Given the description of an element on the screen output the (x, y) to click on. 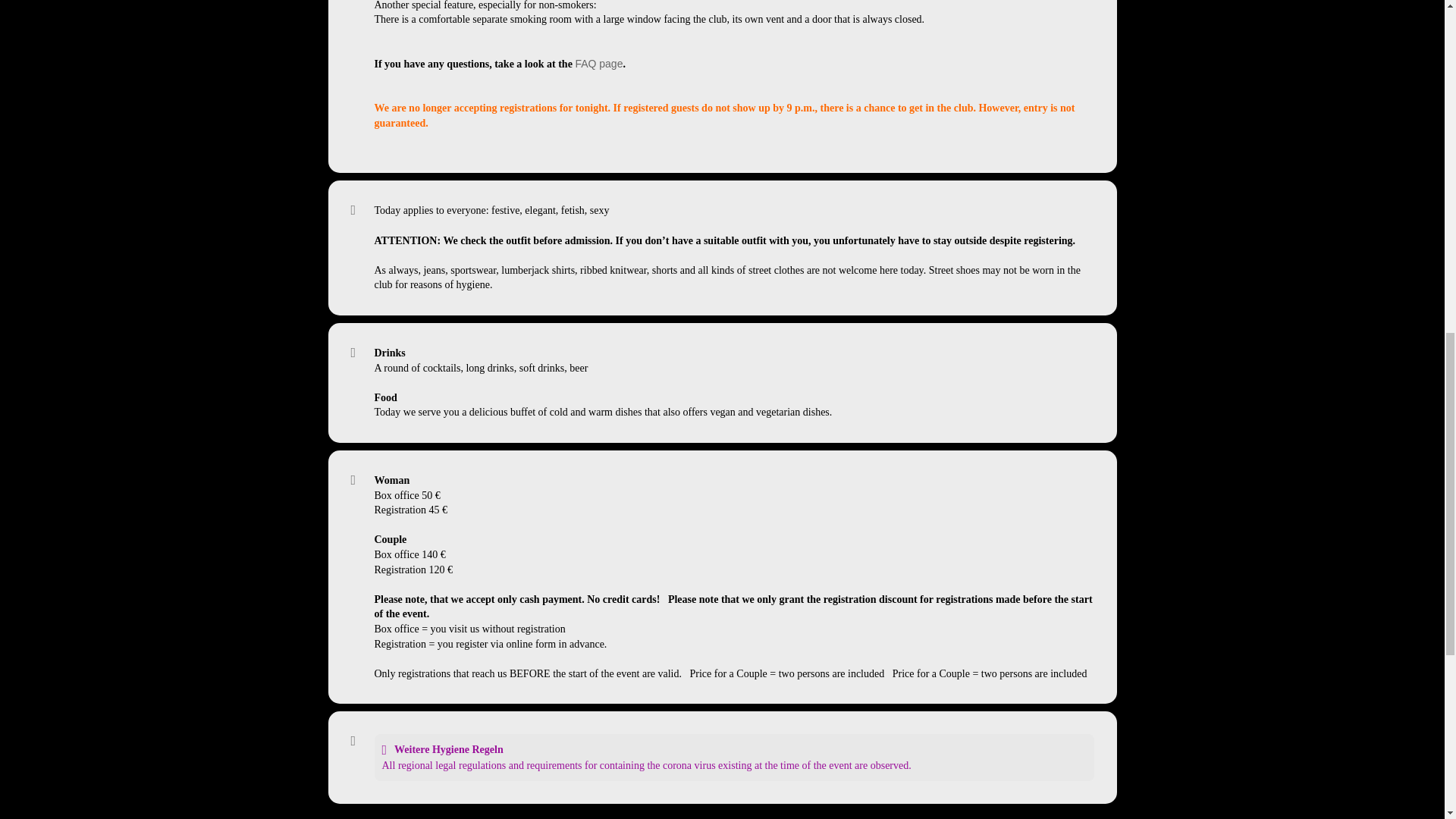
FAQ page (599, 63)
